Given the description of an element on the screen output the (x, y) to click on. 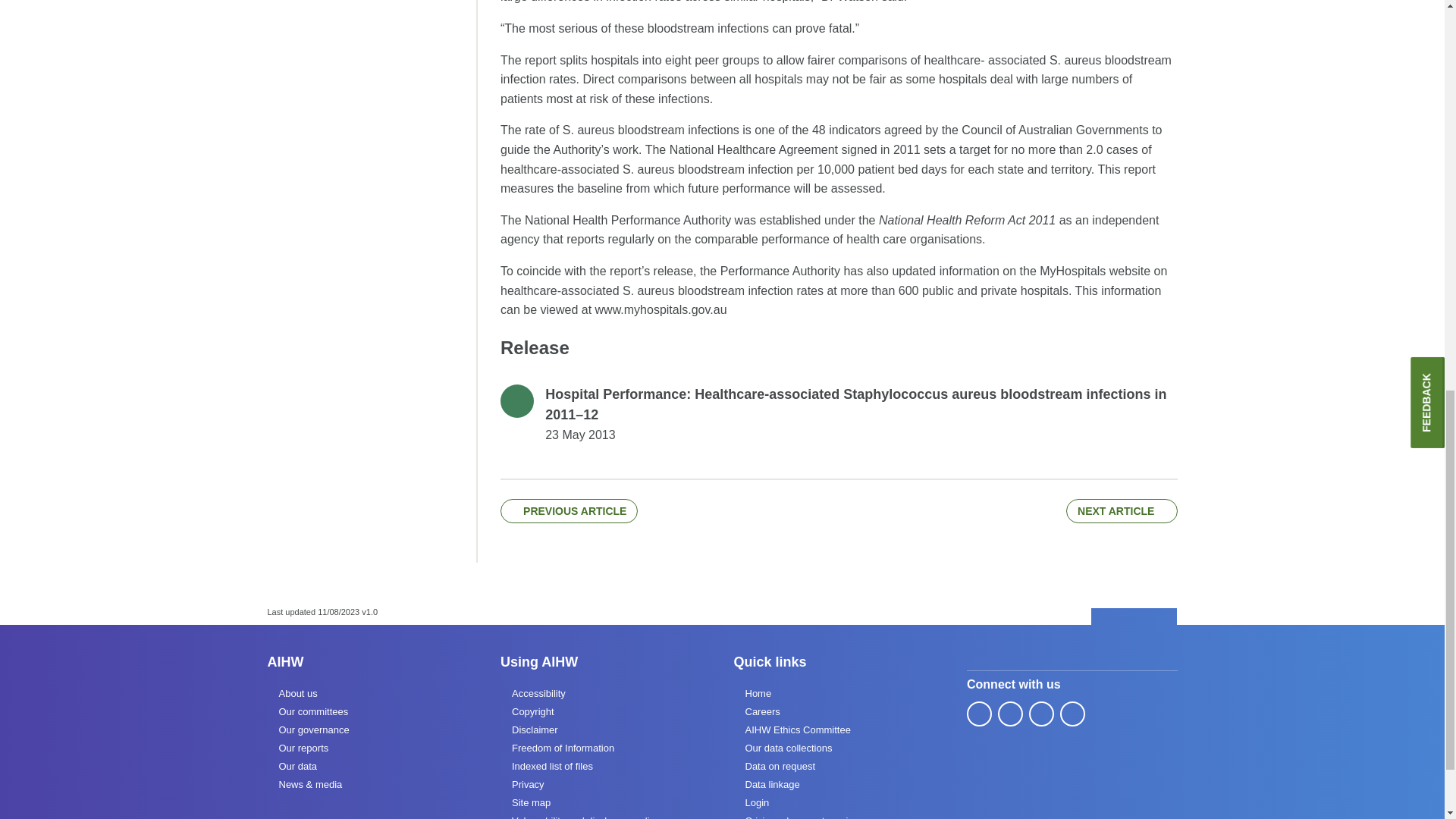
Back to top (1133, 617)
